Given the description of an element on the screen output the (x, y) to click on. 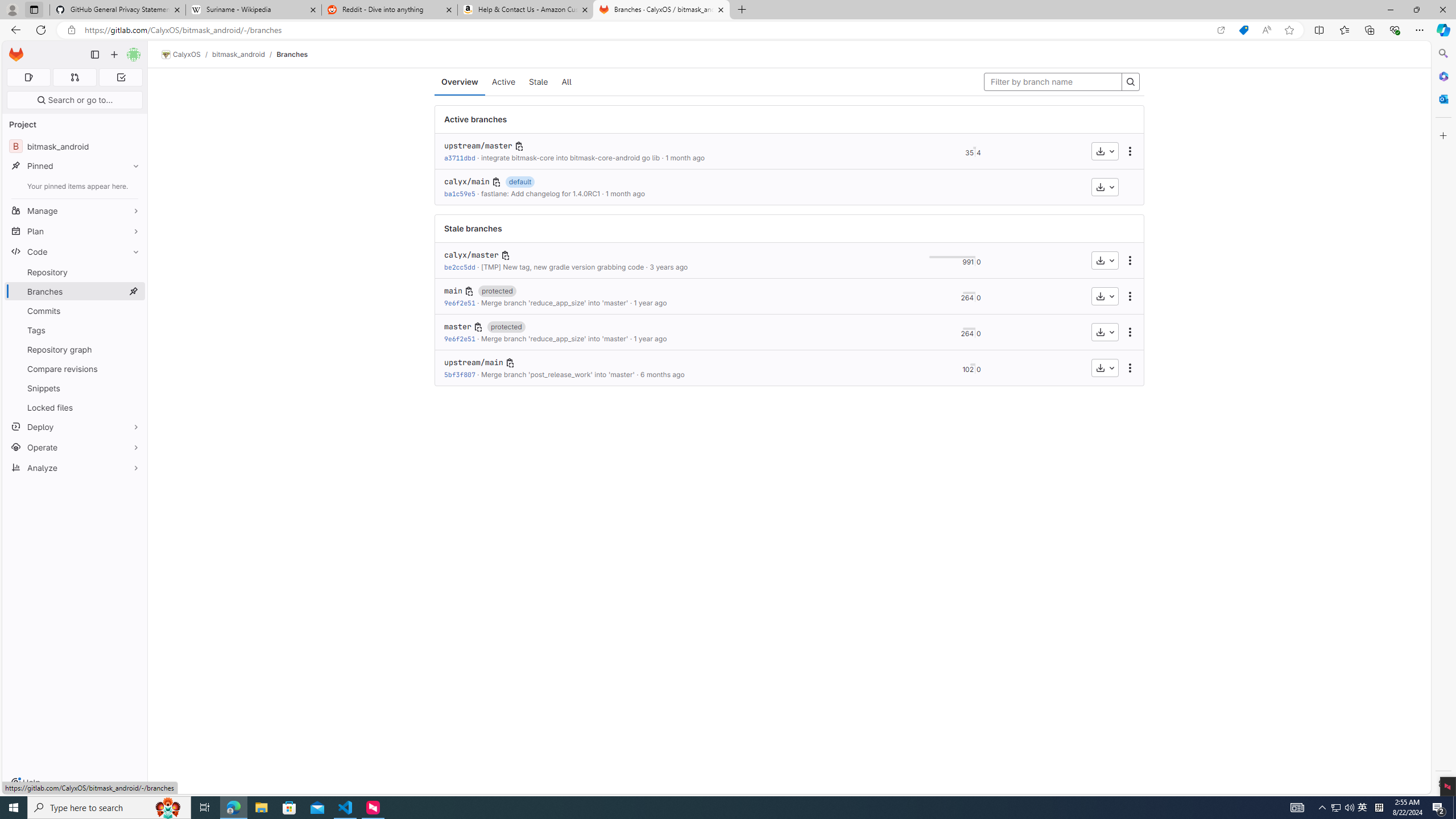
Assigned issues 0 (28, 76)
Pin Repository graph (132, 349)
Homepage (16, 54)
Close (1442, 9)
More actions (1129, 367)
integrate bitmask-core into bitmask-core-android go lib (570, 157)
CalyxOS (180, 54)
Compare revisions (74, 368)
upstream/master (478, 145)
Open in app (1220, 29)
Copilot (Ctrl+Shift+.) (1442, 29)
Settings and more (Alt+F) (1419, 29)
App bar (728, 29)
Tags (74, 330)
Pin Compare revisions (132, 368)
